Given the description of an element on the screen output the (x, y) to click on. 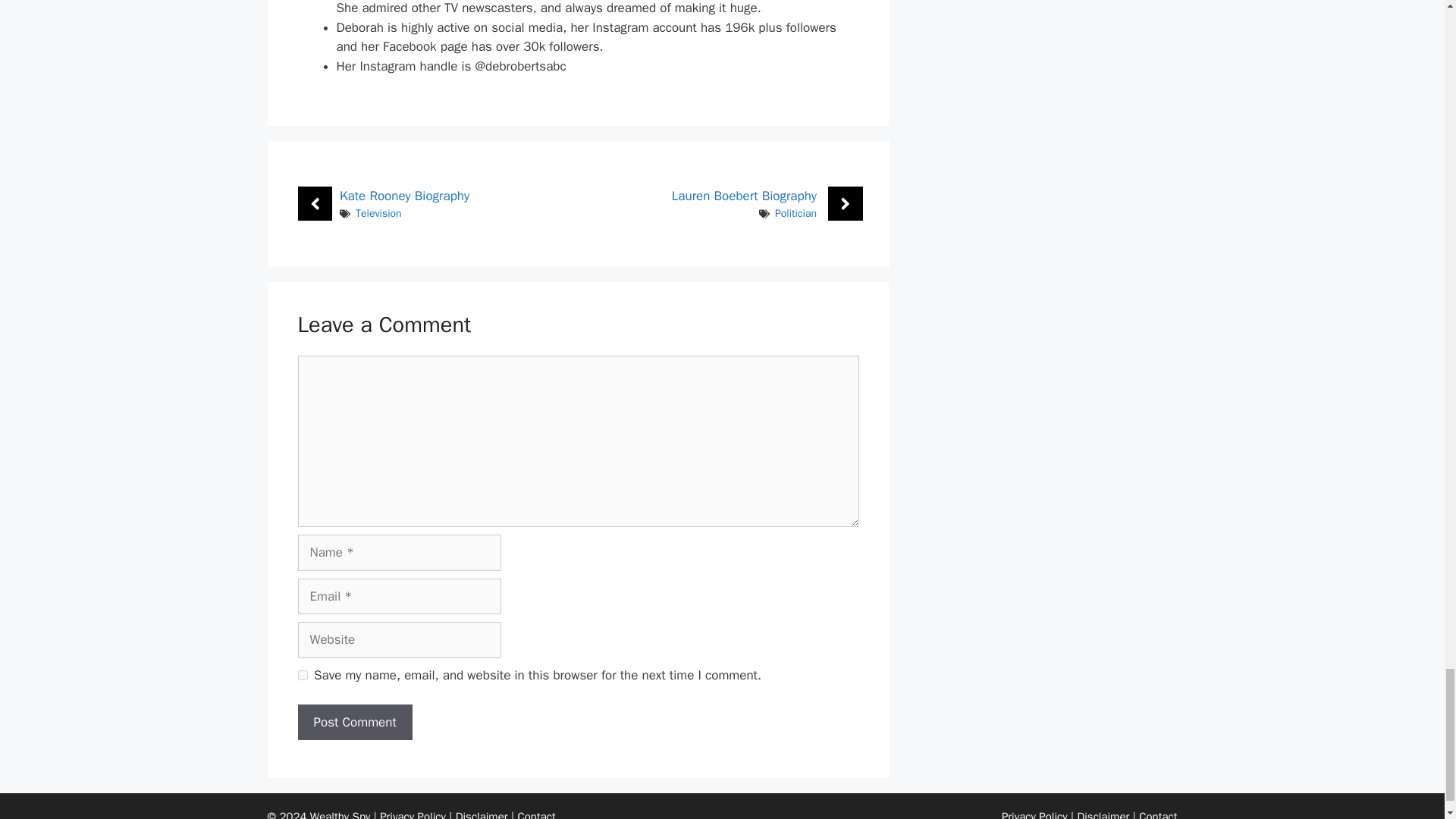
Post Comment (354, 722)
Kate Rooney Biography (403, 195)
Politician (795, 213)
Television (378, 213)
Post Comment (354, 722)
yes (302, 675)
Lauren Boebert Biography (743, 195)
